Given the description of an element on the screen output the (x, y) to click on. 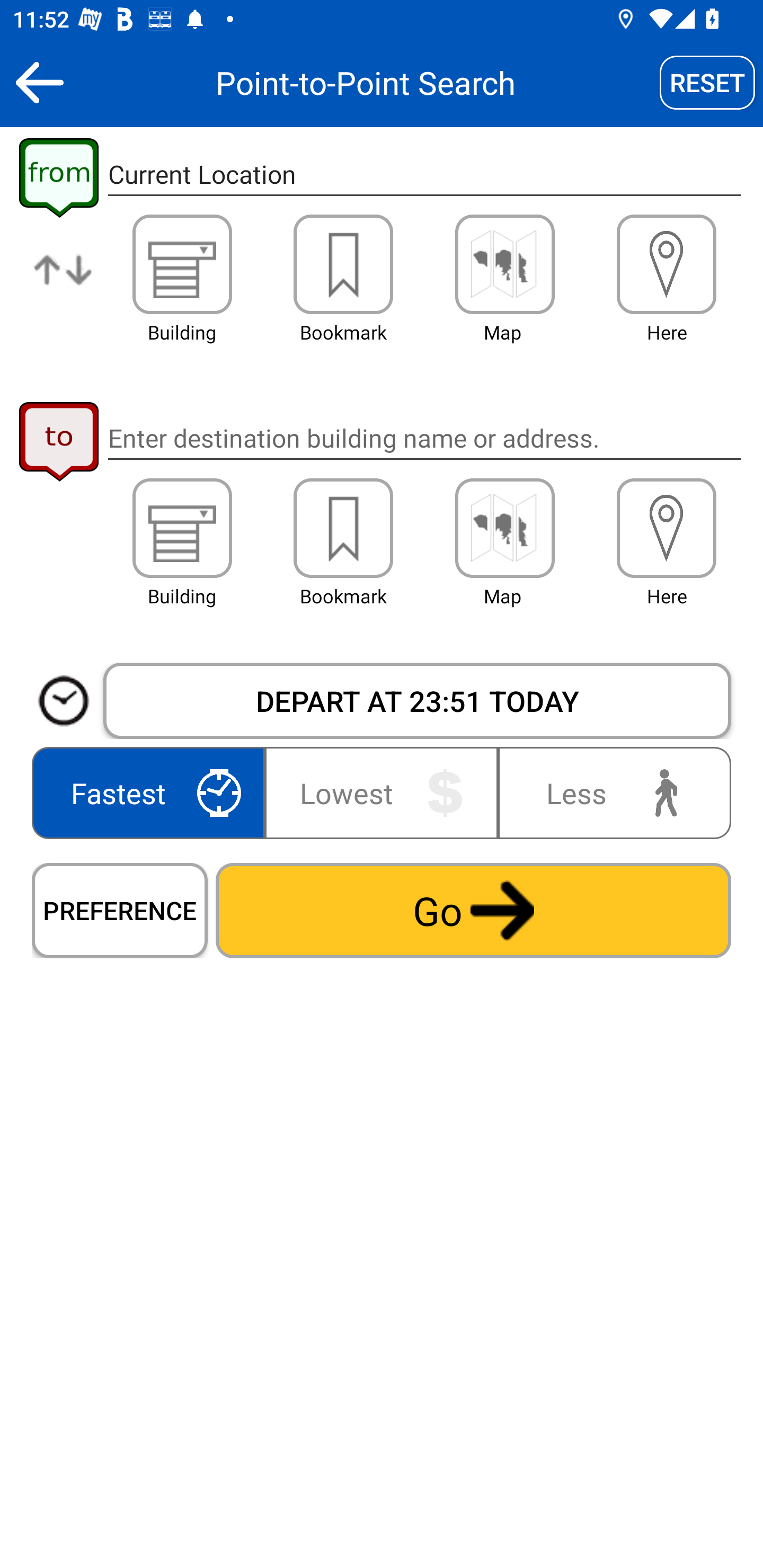
Back (39, 82)
RESET Reset (707, 81)
Current Location (423, 174)
Building (181, 263)
Bookmarks (342, 263)
Select location on map (504, 263)
Here (666, 263)
Swap origin and destination (63, 284)
Enter destination building name or address. (423, 437)
Building (181, 528)
Bookmarks (342, 528)
Select location on map (504, 528)
Here (666, 528)
Lowest (381, 792)
Fastest selected (151, 792)
Less (610, 792)
PREFERENCE Preference (119, 910)
Go (472, 910)
